Given the description of an element on the screen output the (x, y) to click on. 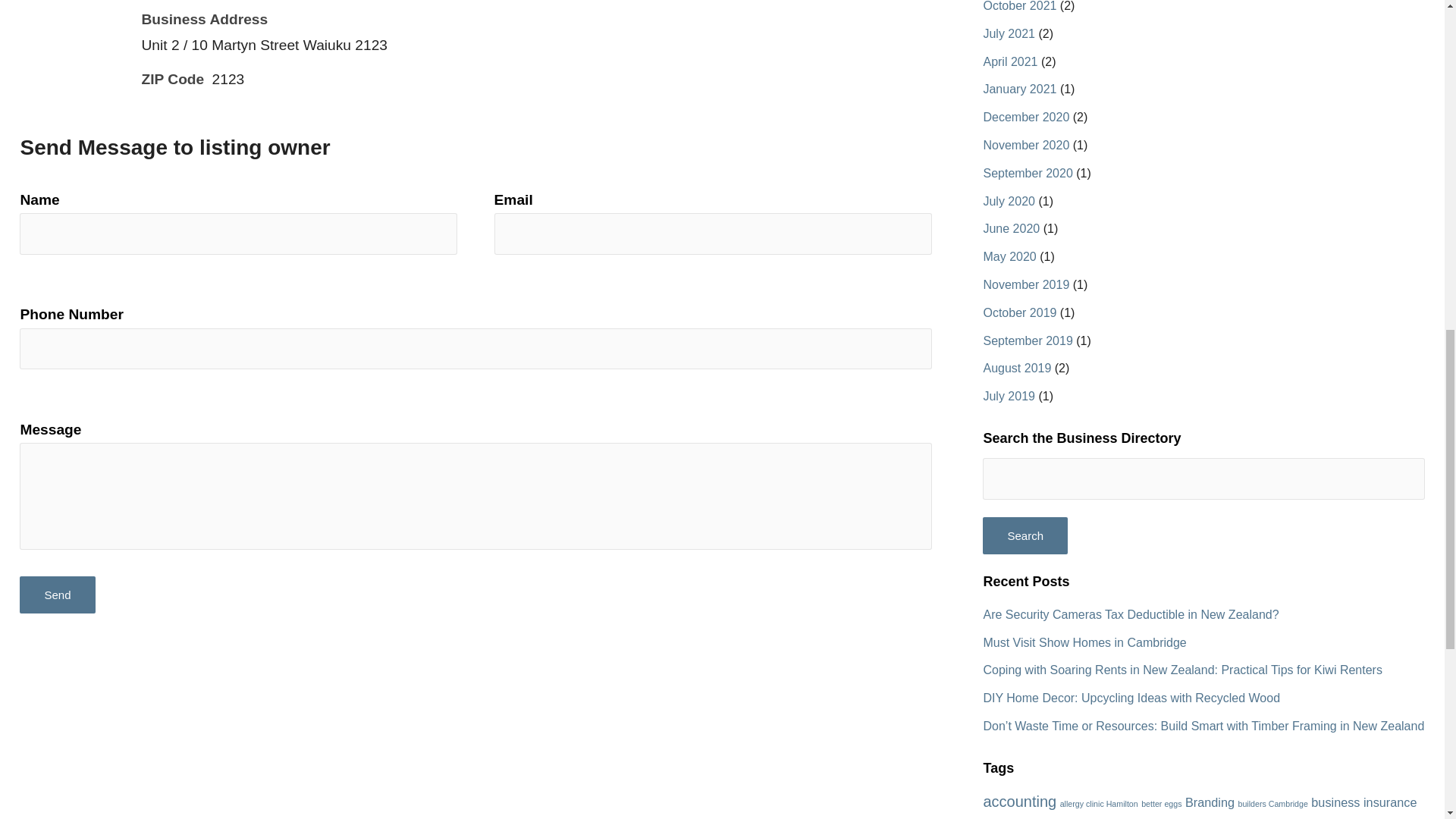
Search (1024, 535)
Search (1024, 535)
Send (57, 594)
Send (57, 594)
